Given the description of an element on the screen output the (x, y) to click on. 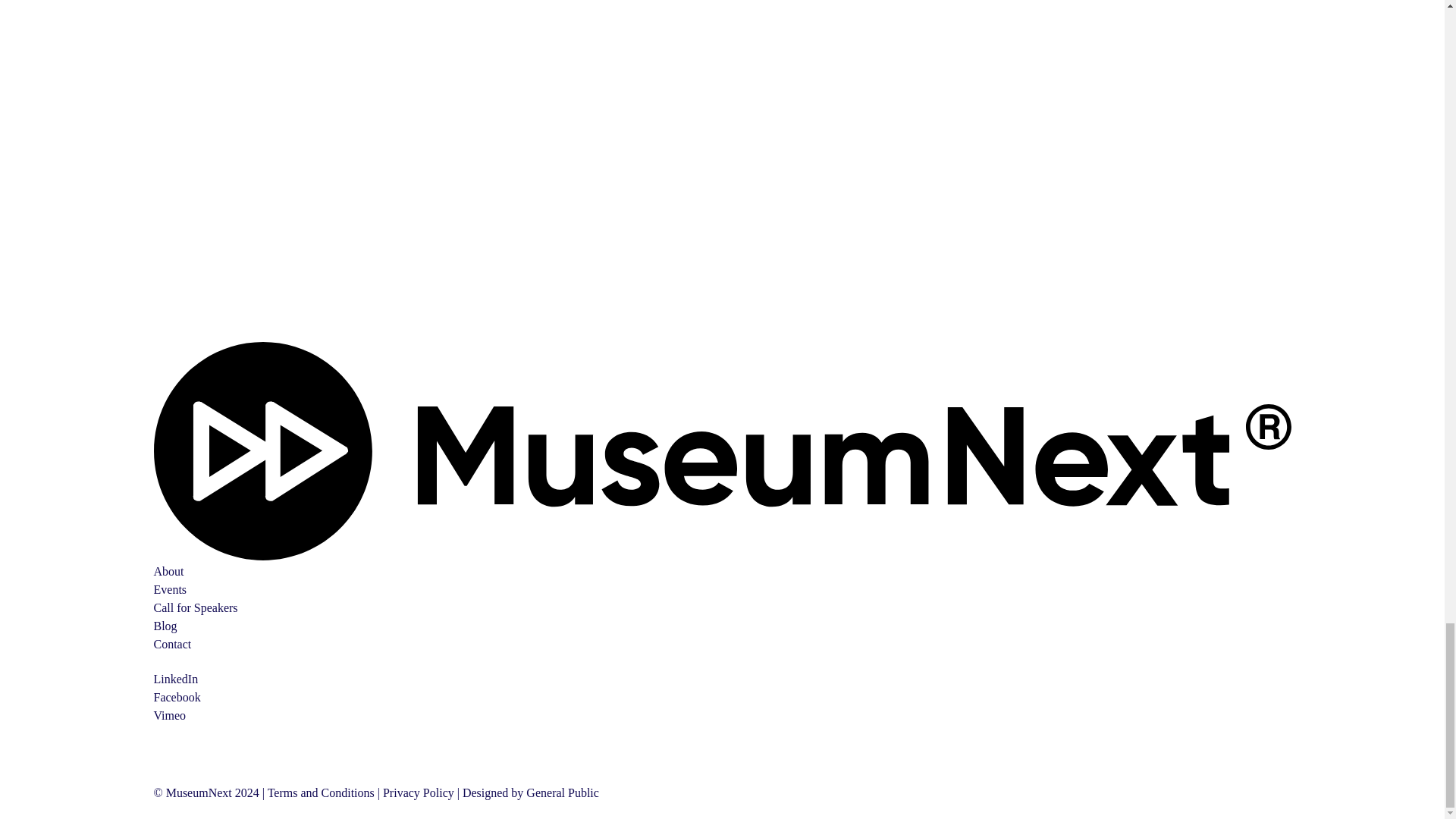
Call for Speakers (194, 607)
Designed by General Public (530, 792)
About (167, 571)
Contact (171, 644)
Facebook (176, 697)
Terms and Conditions (320, 792)
LinkedIn (175, 678)
Privacy Policy (418, 792)
Events (169, 589)
Vimeo (169, 715)
